Given the description of an element on the screen output the (x, y) to click on. 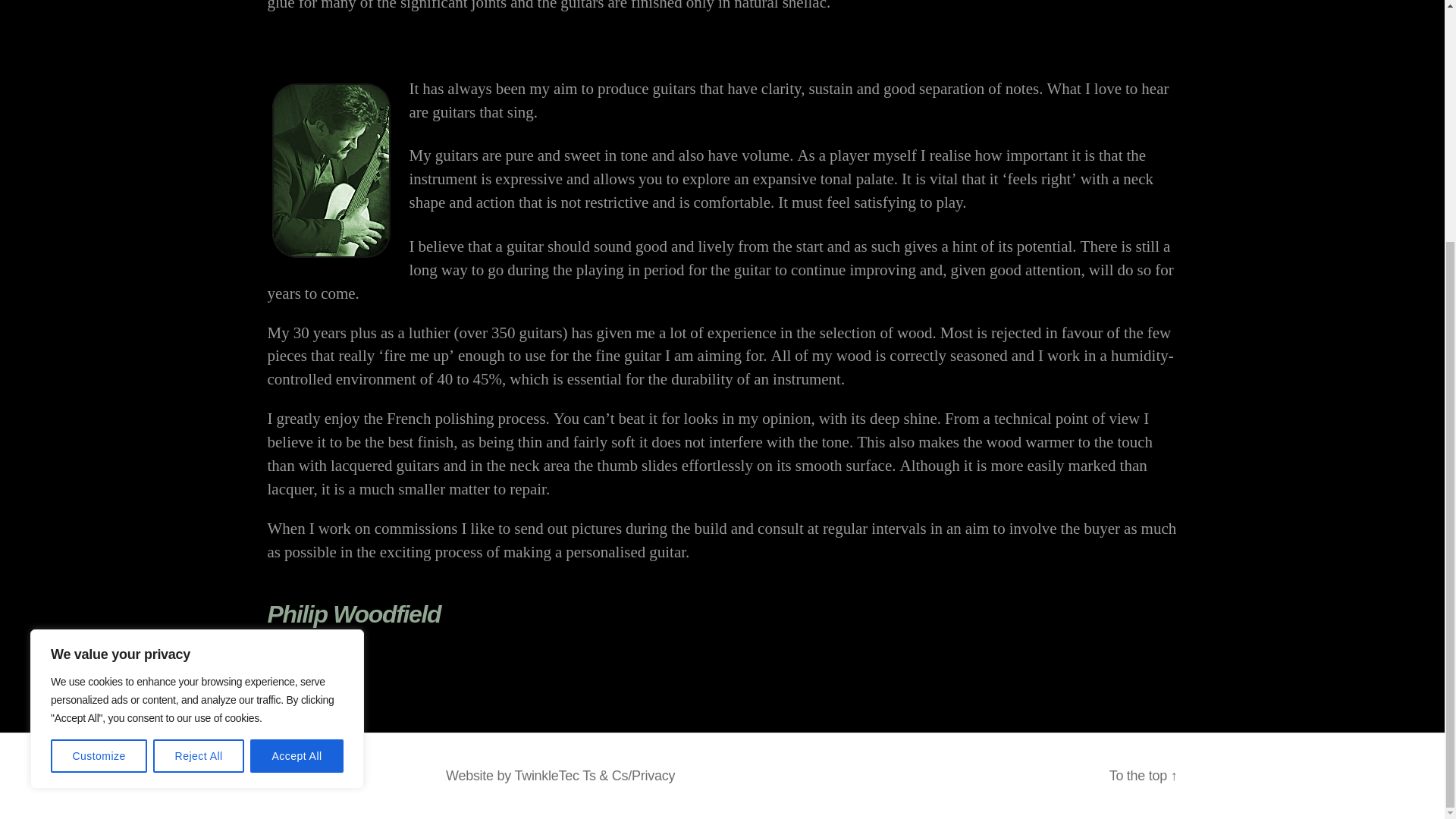
Reject All (198, 421)
Accept All (296, 421)
Customize (98, 421)
